Given the description of an element on the screen output the (x, y) to click on. 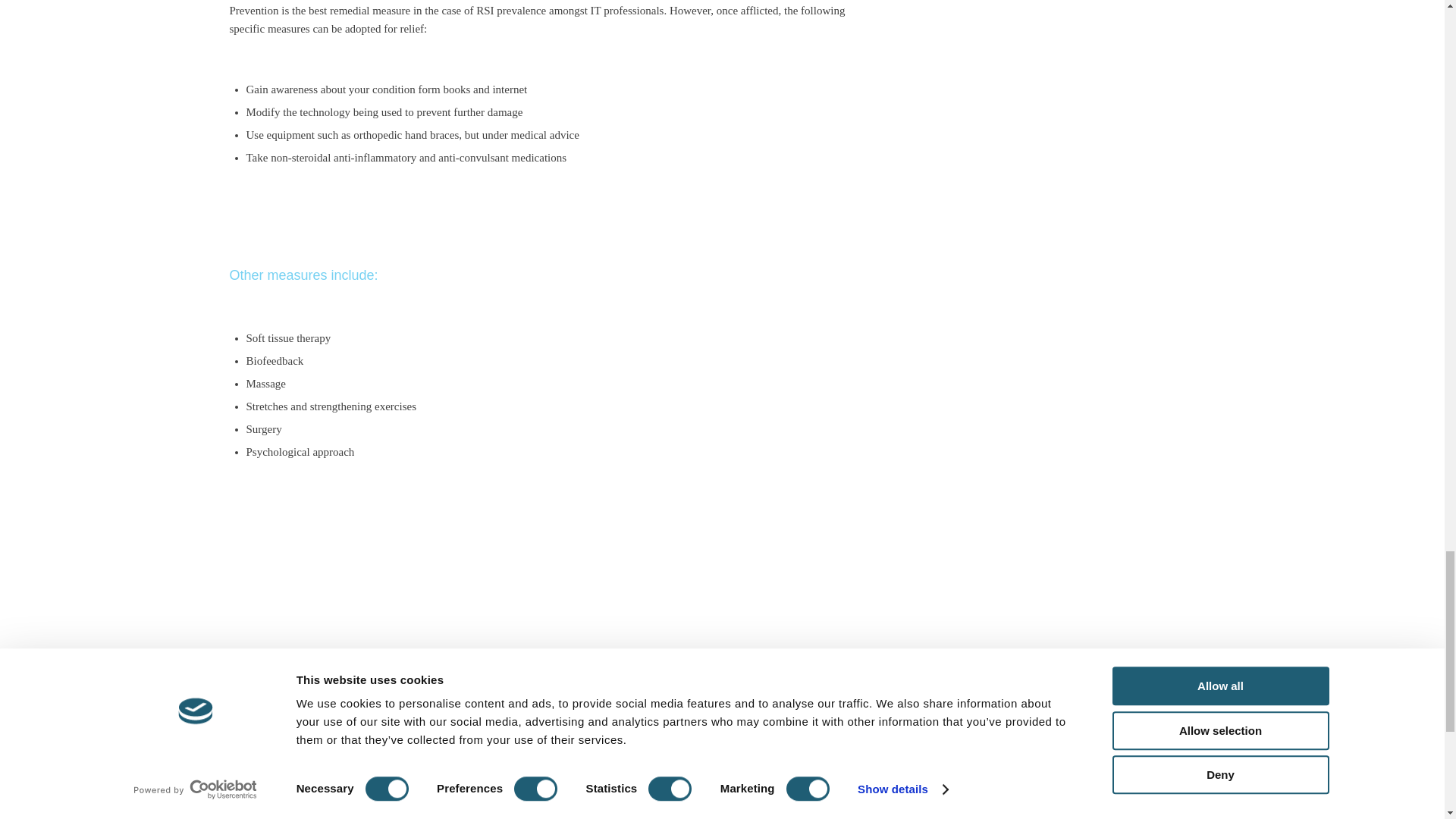
rTMS Treatment for Fibromyalgia (814, 758)
Facial Pain and Trigeminal Neuralgia Care (835, 814)
